Given the description of an element on the screen output the (x, y) to click on. 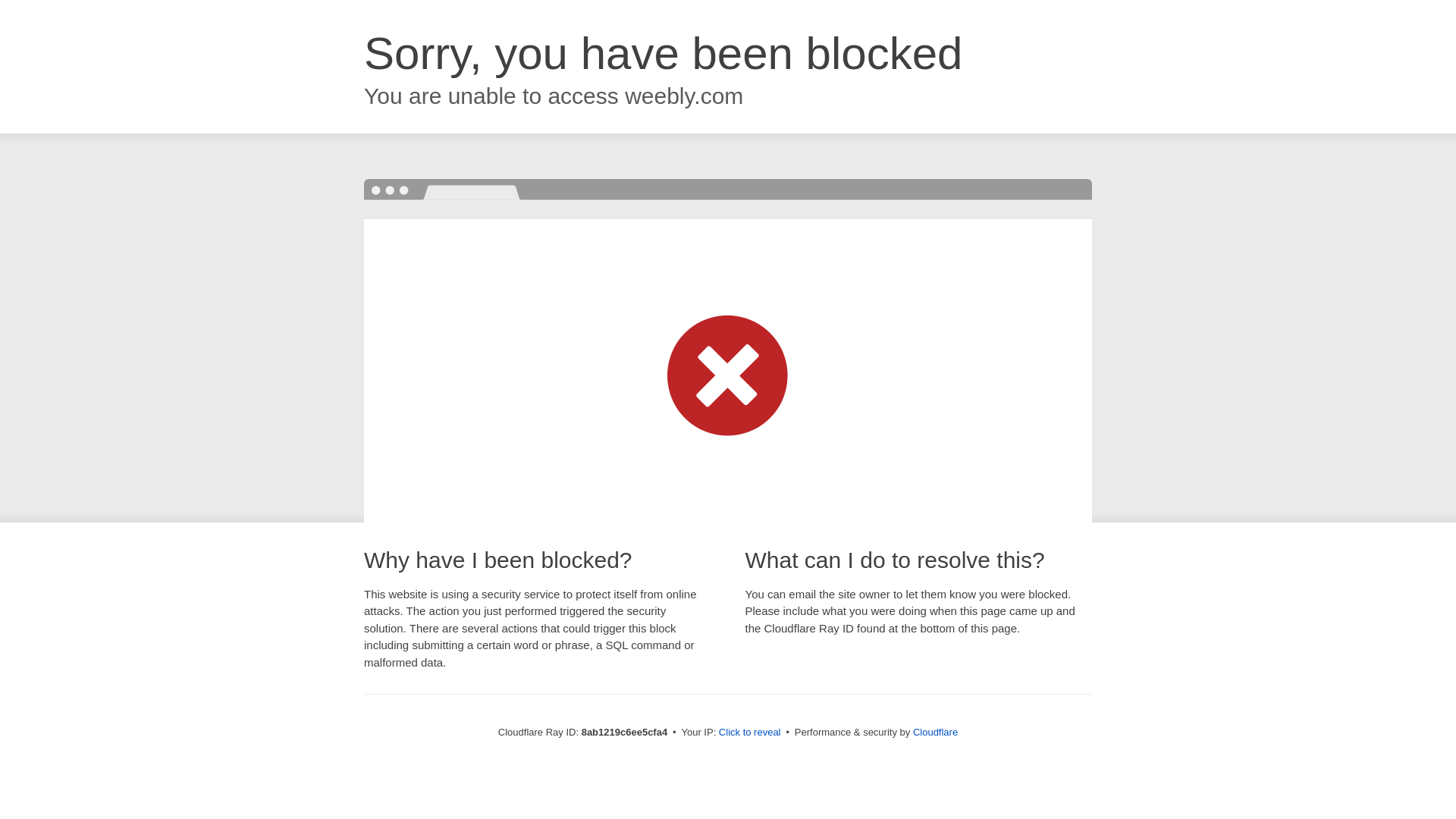
Cloudflare (935, 731)
Click to reveal (749, 732)
